Given the description of an element on the screen output the (x, y) to click on. 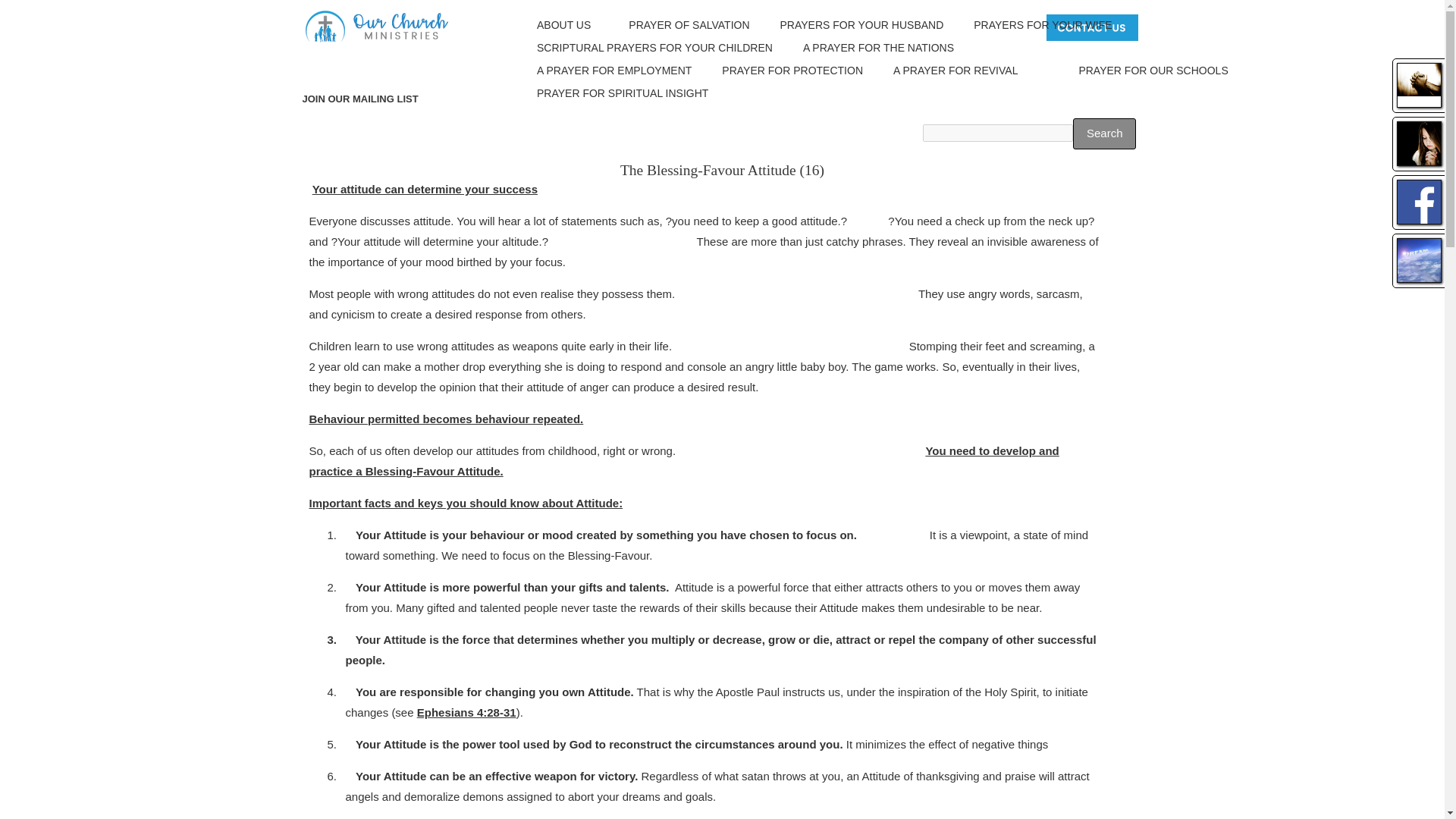
PRAYER FOR OUR SCHOOLS (1152, 70)
PRAYER FOR SPIRITUAL INSIGHT (622, 93)
PRAYERS FOR YOUR WIFE (1046, 24)
PRAYERS FOR OUR GOVERNMENT (1075, 47)
ABOUT US (567, 24)
PRAYER OF SALVATION (688, 24)
PRAYER FOR PROTECTION (792, 70)
A PRAYER FOR EMPLOYMENT (614, 70)
SCRIPTURAL PRAYERS FOR YOUR CHILDREN (655, 47)
A PRAYER FOR REVIVAL (955, 70)
PRAYERS FOR YOUR HUSBAND (861, 24)
Search (1104, 133)
A PRAYER FOR THE NATIONS (878, 47)
